Given the description of an element on the screen output the (x, y) to click on. 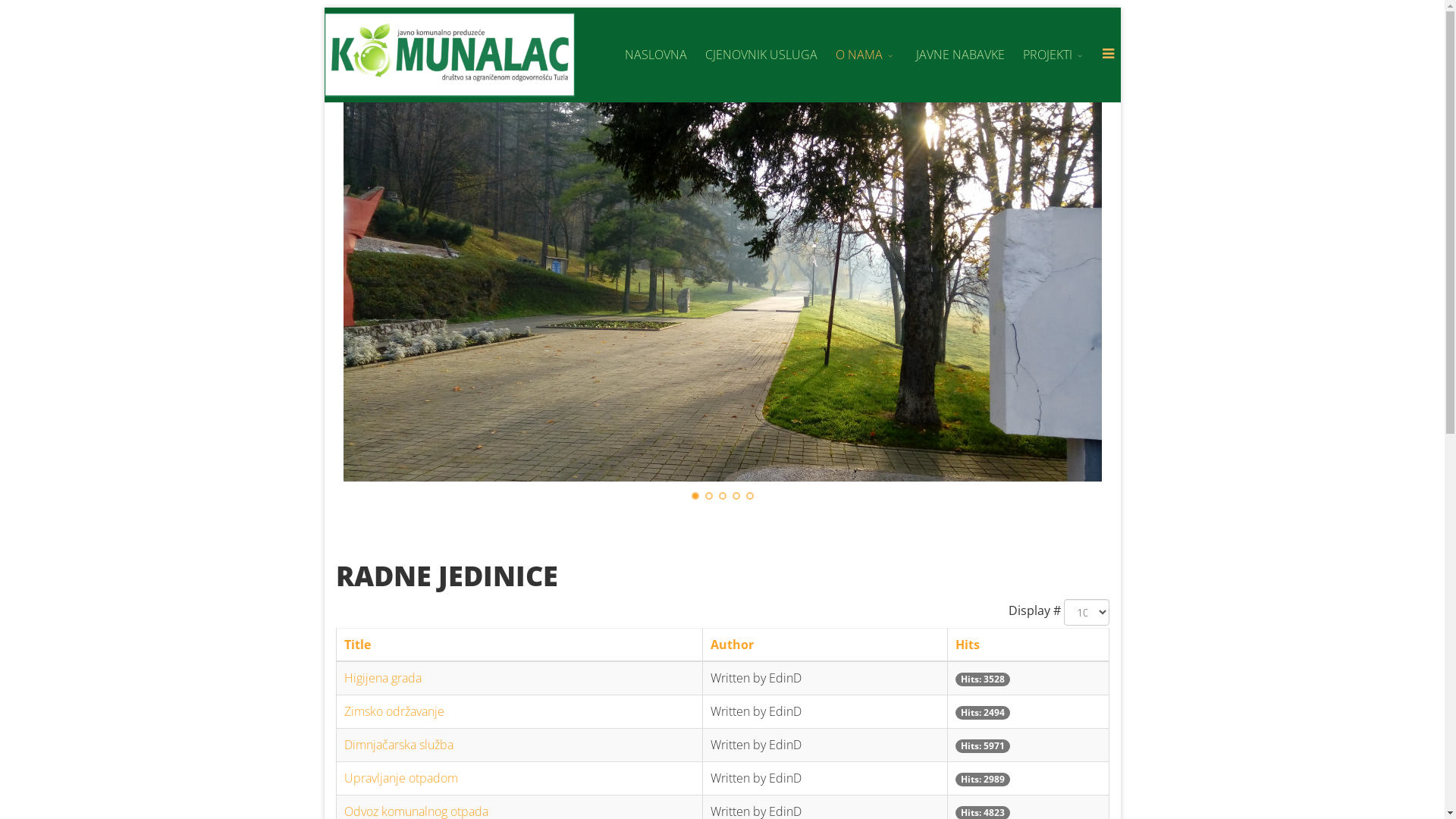
PROJEKTI Element type: text (1054, 54)
CJENOVNIK USLUGA Element type: text (761, 54)
Hits Element type: text (967, 644)
NASLOVNA Element type: text (655, 54)
Higijena grada Element type: text (382, 677)
O NAMA Element type: text (866, 54)
Author Element type: text (731, 644)
Upravljanje otpadom Element type: text (401, 777)
Title Element type: text (357, 644)
JAVNE NABAVKE Element type: text (959, 54)
